Given the description of an element on the screen output the (x, y) to click on. 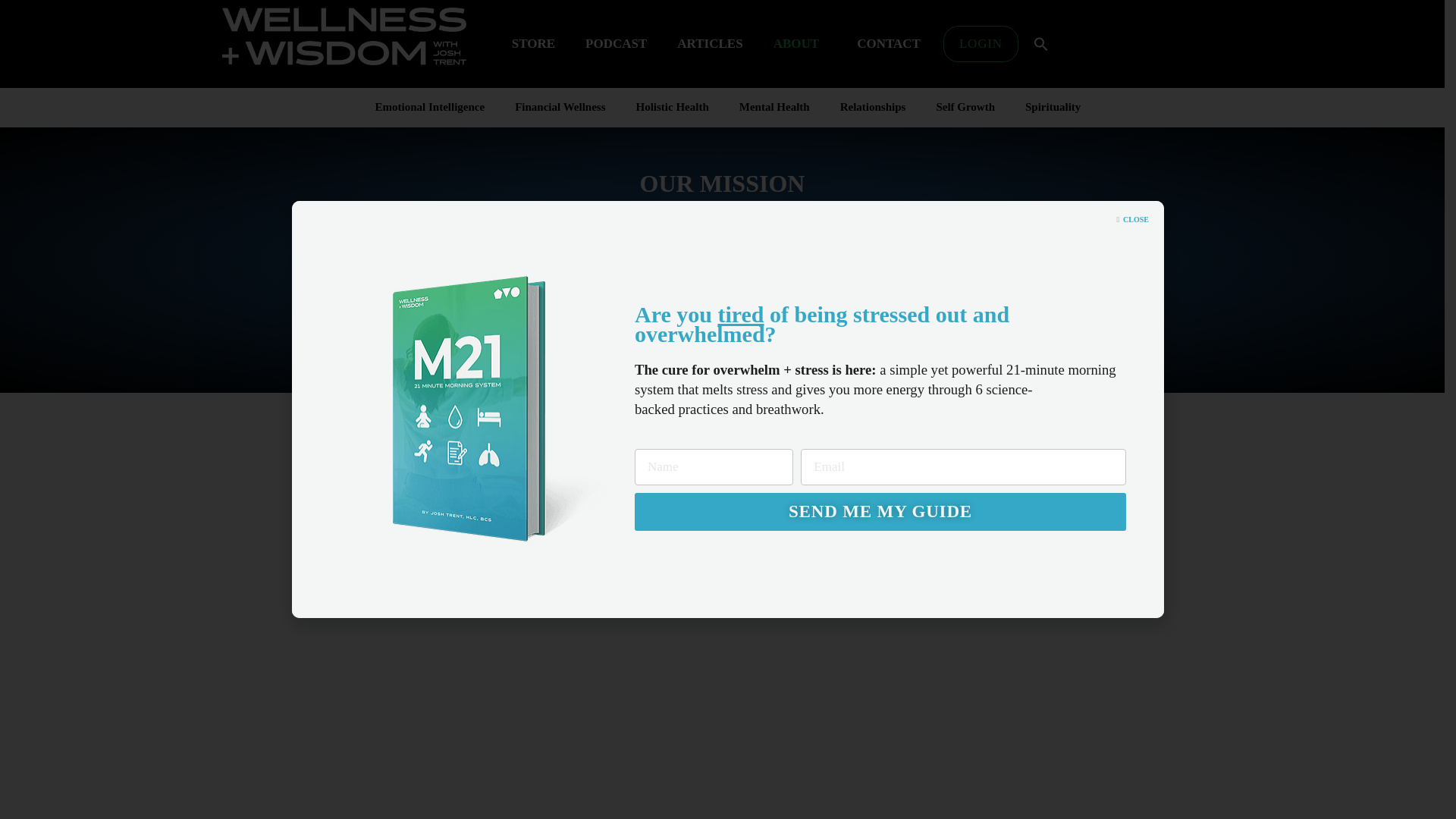
STORE (533, 43)
LOGIN (980, 43)
Wellness Wisdom White White (343, 36)
ABOUT (799, 43)
CONTACT (892, 43)
ARTICLES (709, 43)
PODCAST (616, 43)
